Given the description of an element on the screen output the (x, y) to click on. 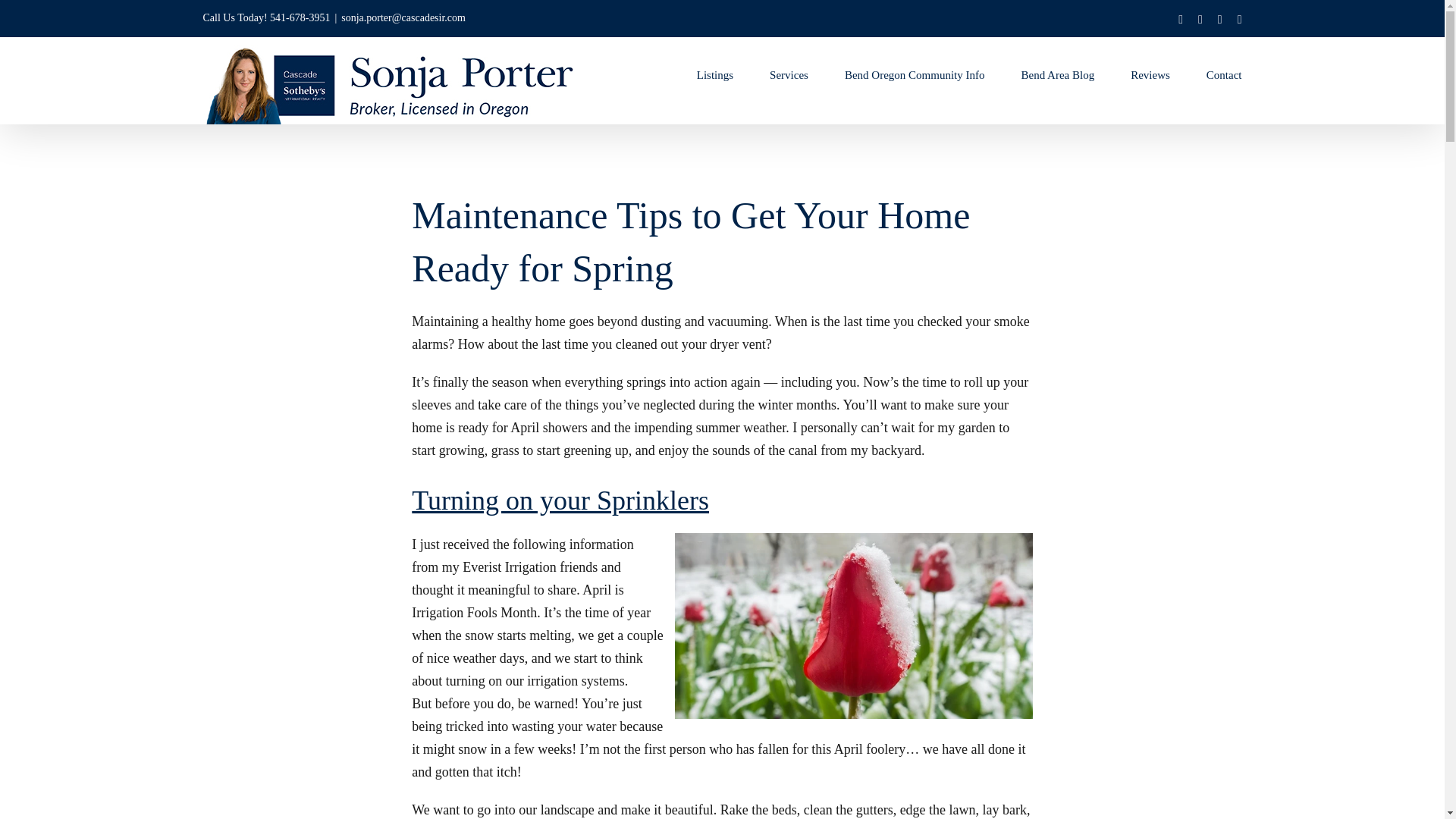
Reviews (1150, 75)
Services (789, 75)
Bend Oregon Community Info (914, 75)
Pinterest (1239, 19)
Facebook (1179, 19)
Contact (1224, 75)
Listings (715, 75)
YouTube (1220, 19)
Bend Area Blog (1058, 75)
Twitter (1200, 19)
